Given the description of an element on the screen output the (x, y) to click on. 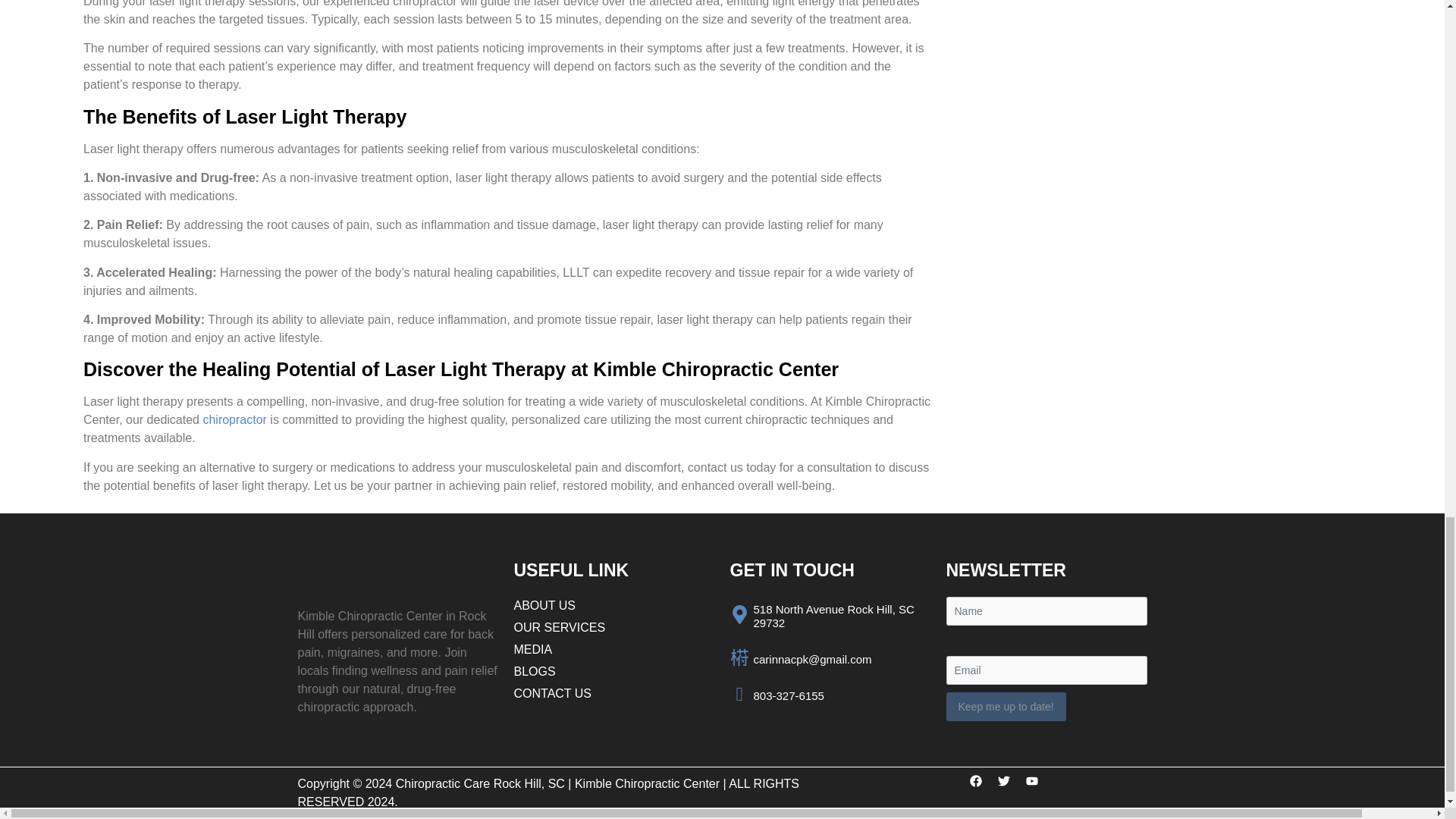
Keep me up to date! (1005, 706)
BLOGS (613, 671)
MEDIA (613, 649)
ABOUT US (613, 606)
chiropractor (234, 419)
OUR SERVICES (613, 628)
